Given the description of an element on the screen output the (x, y) to click on. 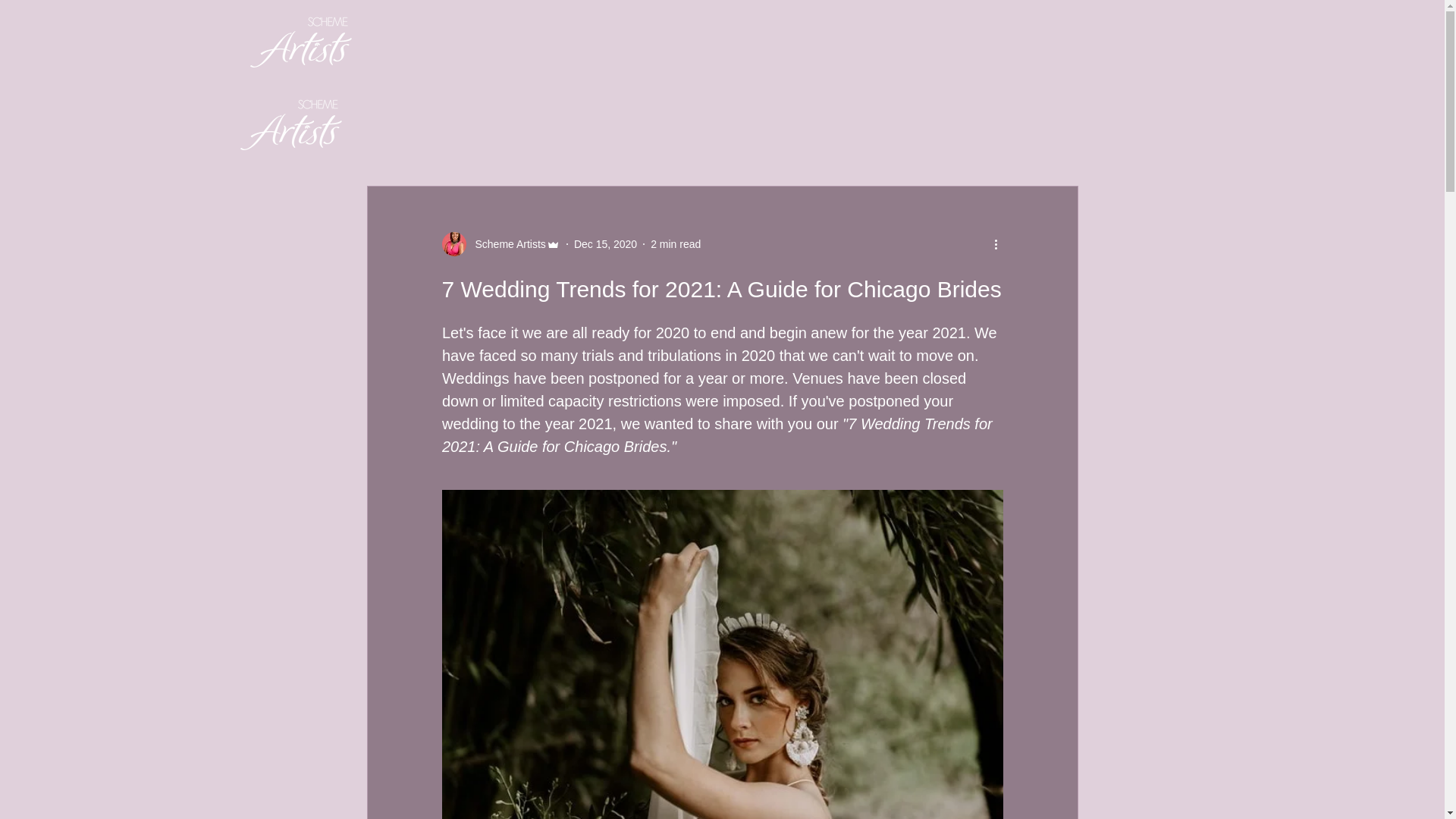
Dec 15, 2020 (605, 244)
2 min read (675, 244)
Scheme Artists (504, 244)
Scheme Artists (500, 243)
